Given the description of an element on the screen output the (x, y) to click on. 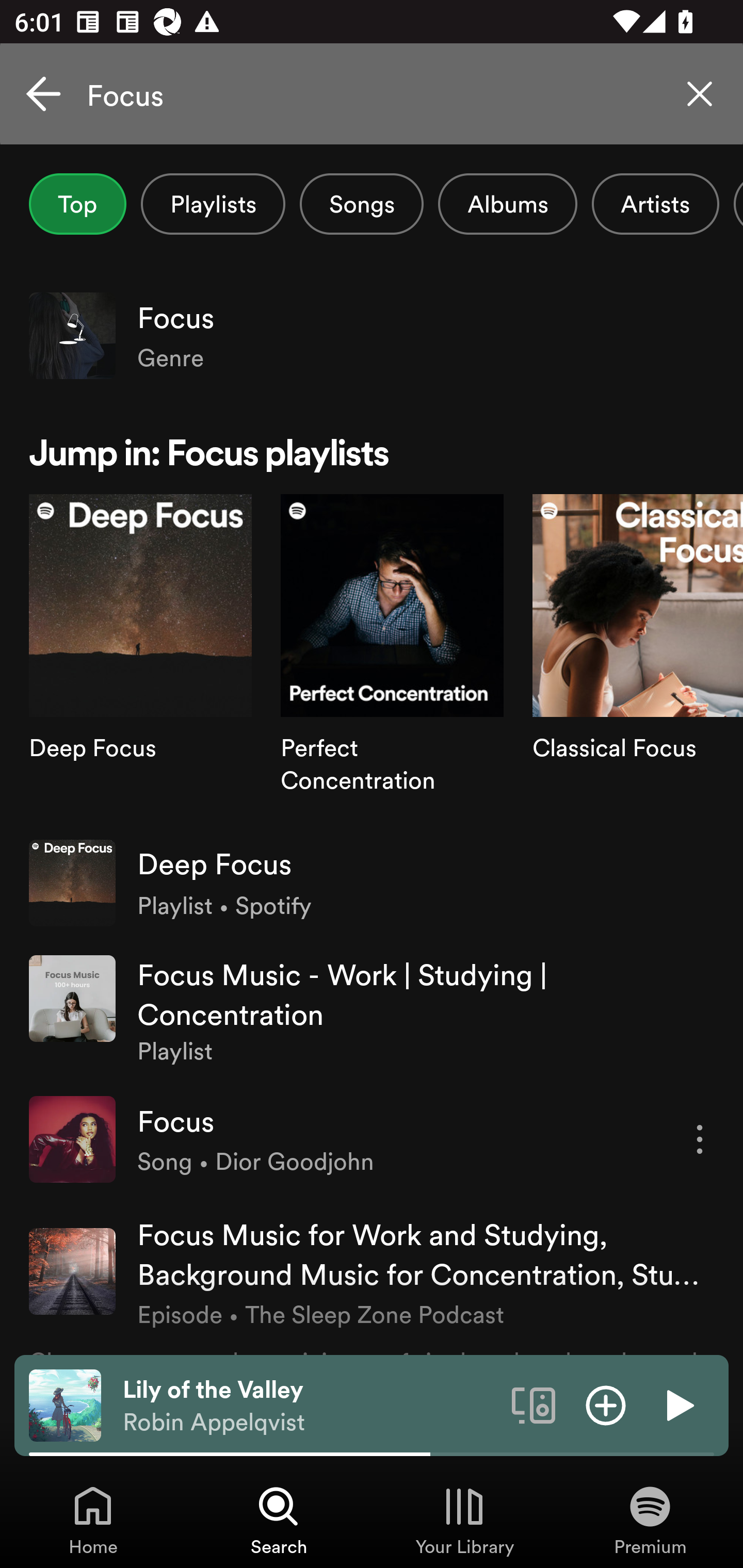
Focus (371, 93)
Cancel (43, 93)
Clear search query (699, 93)
Top (77, 203)
Playlists (213, 203)
Songs (361, 203)
Albums (507, 203)
Artists (655, 203)
Focus Genre (371, 335)
Search card image Deep Focus (139, 658)
Search card image Perfect Concentration (391, 658)
Search card image Classical Focus (637, 658)
Deep Focus Playlist • Spotify (371, 882)
More options for song Focus (699, 1139)
Lily of the Valley Robin Appelqvist (309, 1405)
The cover art of the currently playing track (64, 1404)
Connect to a device. Opens the devices menu (533, 1404)
Add item (605, 1404)
Play (677, 1404)
Home, Tab 1 of 4 Home Home (92, 1519)
Search, Tab 2 of 4 Search Search (278, 1519)
Your Library, Tab 3 of 4 Your Library Your Library (464, 1519)
Premium, Tab 4 of 4 Premium Premium (650, 1519)
